Given the description of an element on the screen output the (x, y) to click on. 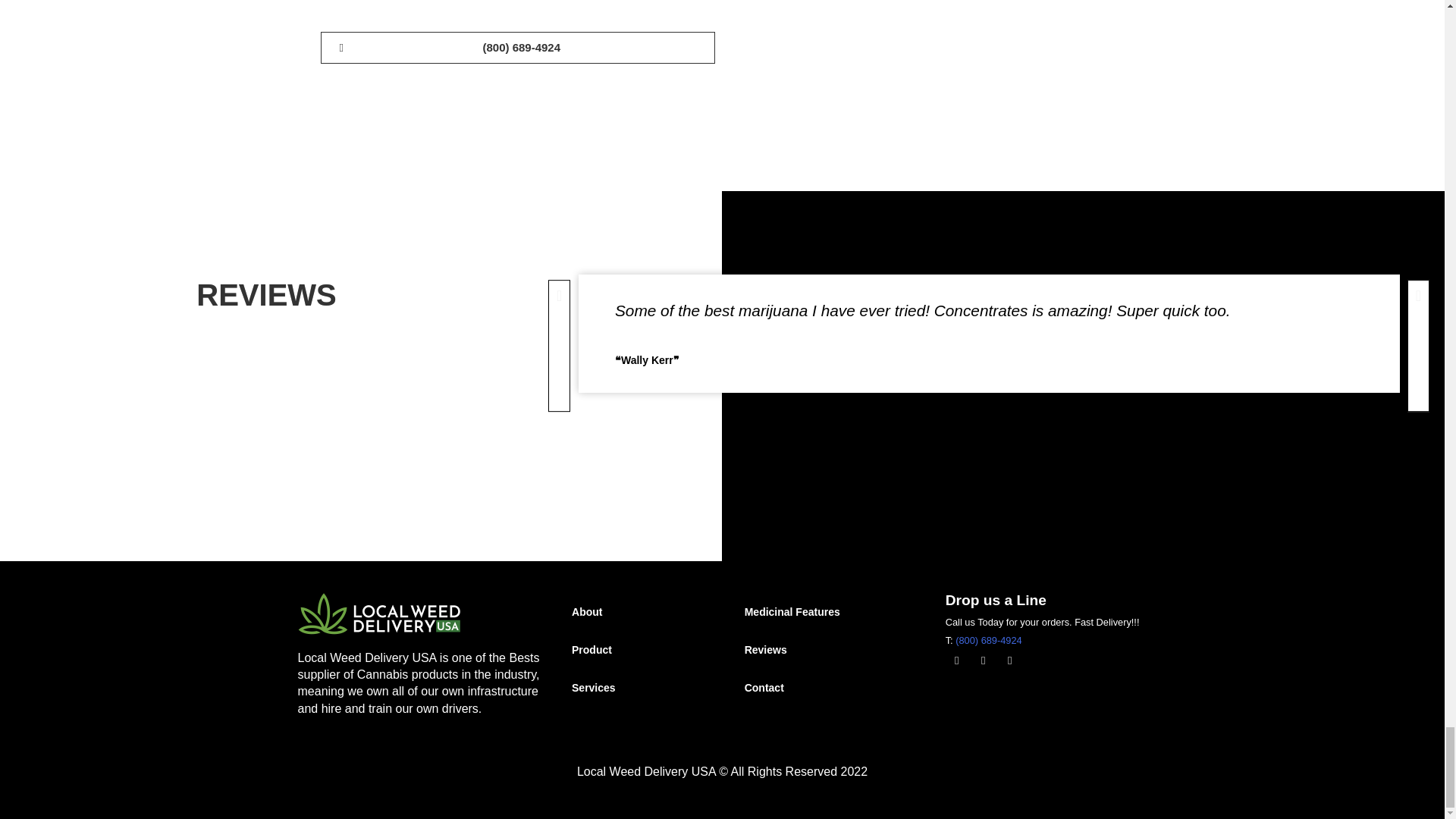
Contact (829, 687)
About (635, 611)
Reviews (829, 649)
Services (635, 687)
Product (635, 649)
Medicinal Features (829, 611)
